Given the description of an element on the screen output the (x, y) to click on. 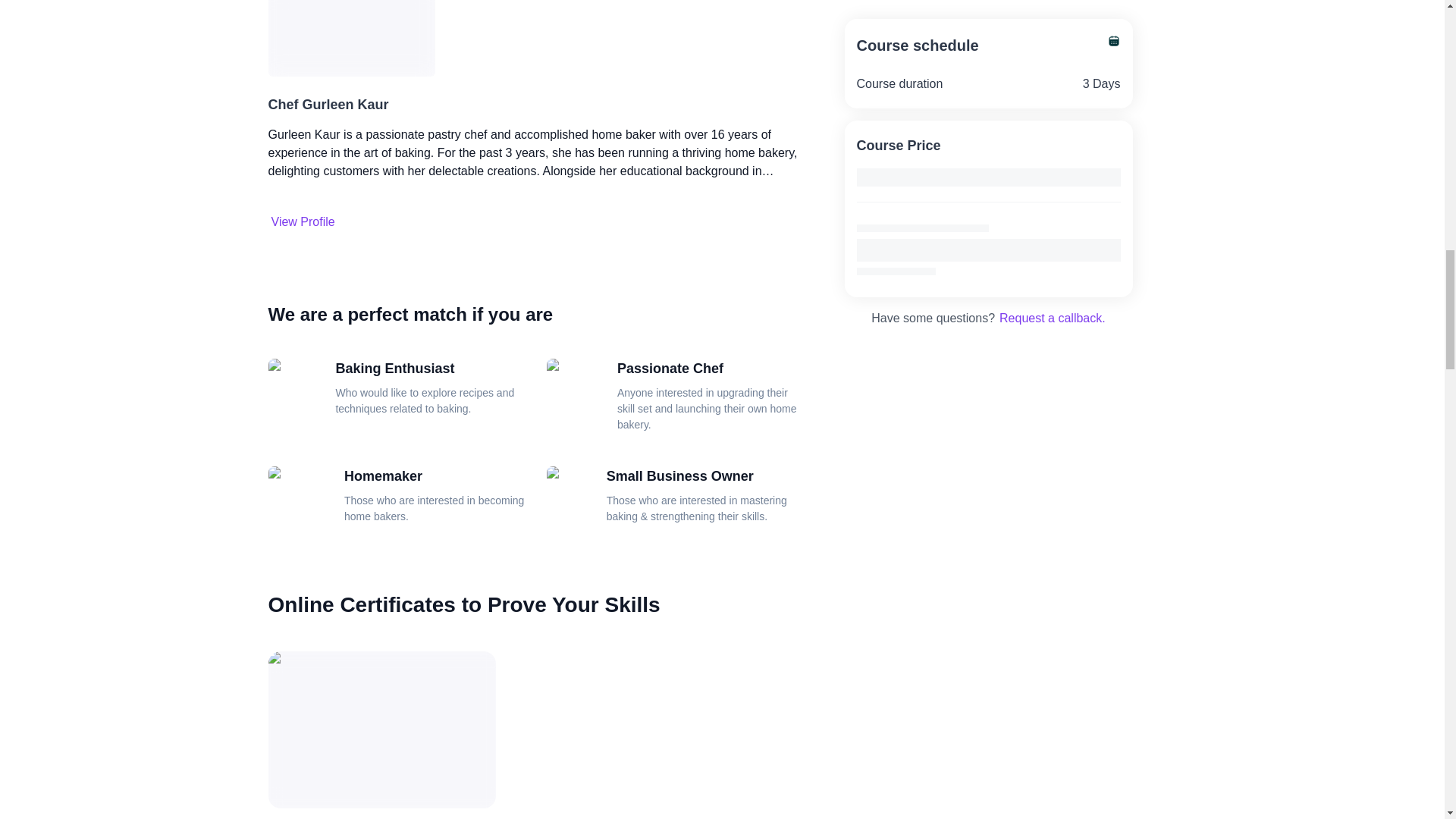
View Profile (302, 221)
Chef Gurleen Kaur (327, 105)
Chef Gurleen Kaur - Gourmet Baklava Box course instructor (327, 105)
Chef Gurleen Kaur - Gourmet Baklava Box course instructor (302, 221)
Gourmet Baklava Box suits homemaker (299, 500)
Alippo Course Certificate (381, 729)
Chef Gurleen Kaur - Gourmet Baklava Box course instructor (351, 38)
